Given the description of an element on the screen output the (x, y) to click on. 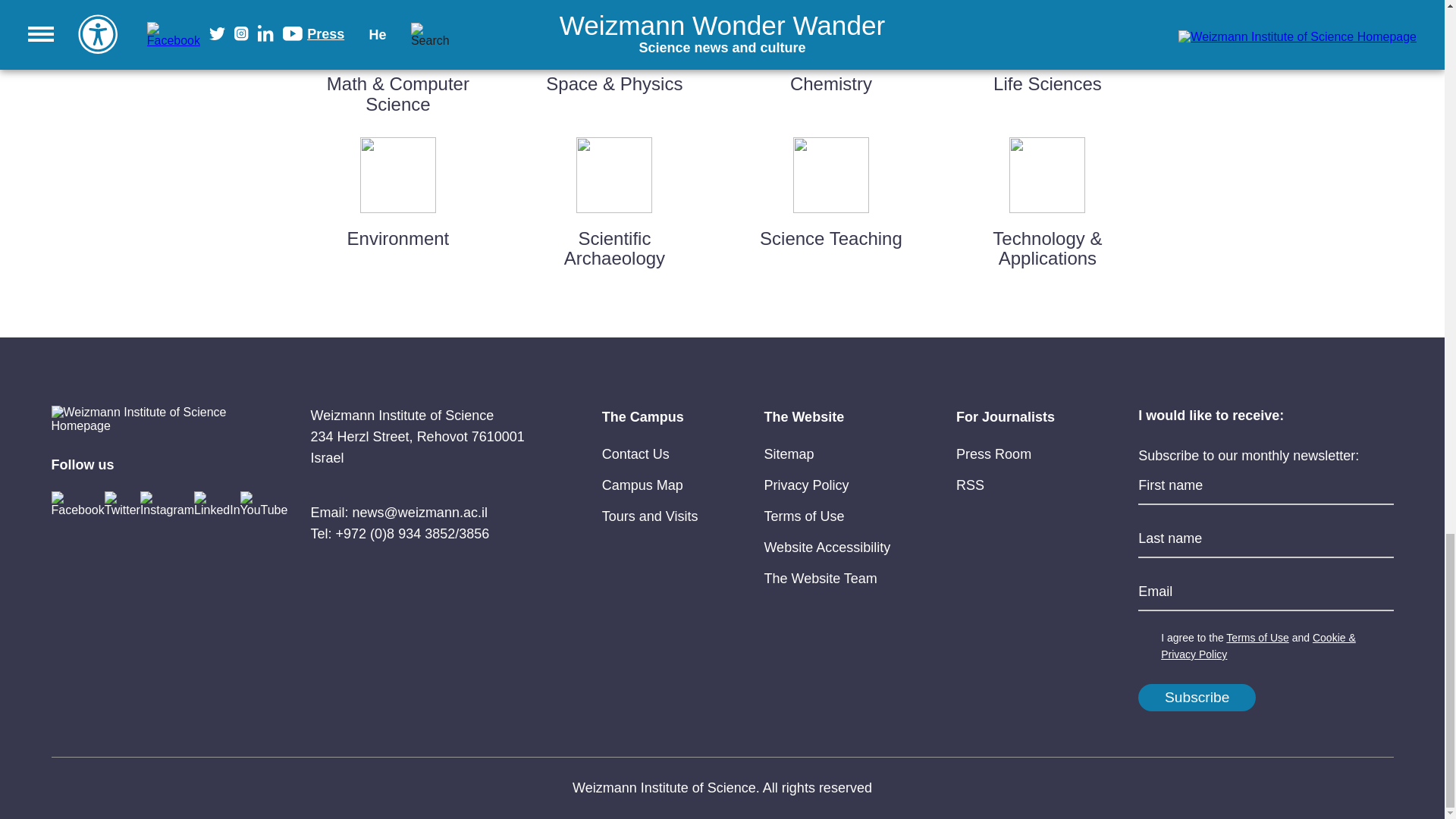
opens in a new window (803, 516)
1 (1147, 638)
Weizmann Institute of Science Homepage (141, 419)
opens in a new window (805, 485)
opens in a new window (642, 485)
Subscribe (1196, 697)
opens in a new window (635, 453)
